Given the description of an element on the screen output the (x, y) to click on. 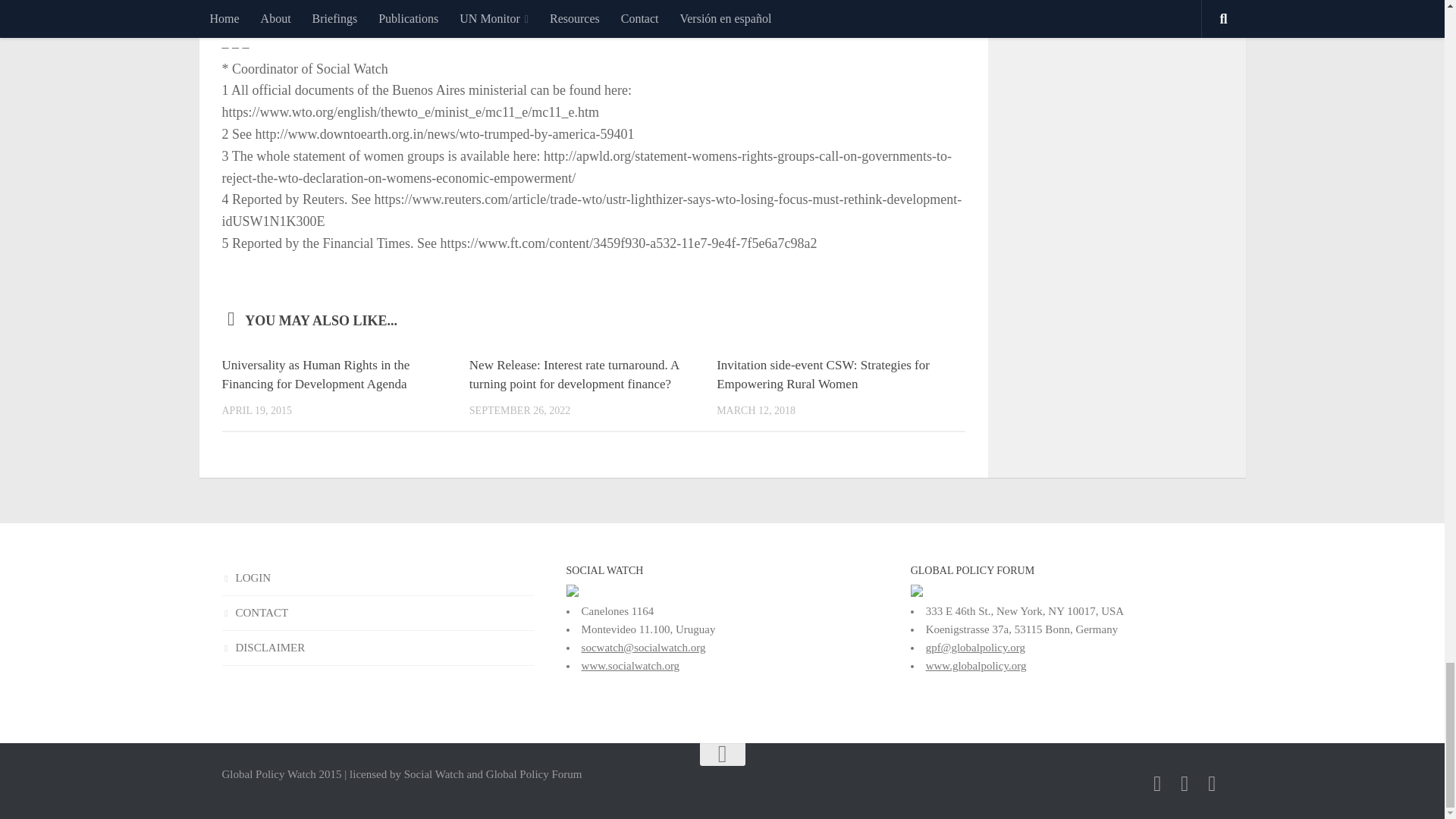
rss (1212, 783)
subscribe (1184, 783)
twitter (1157, 783)
